Given the description of an element on the screen output the (x, y) to click on. 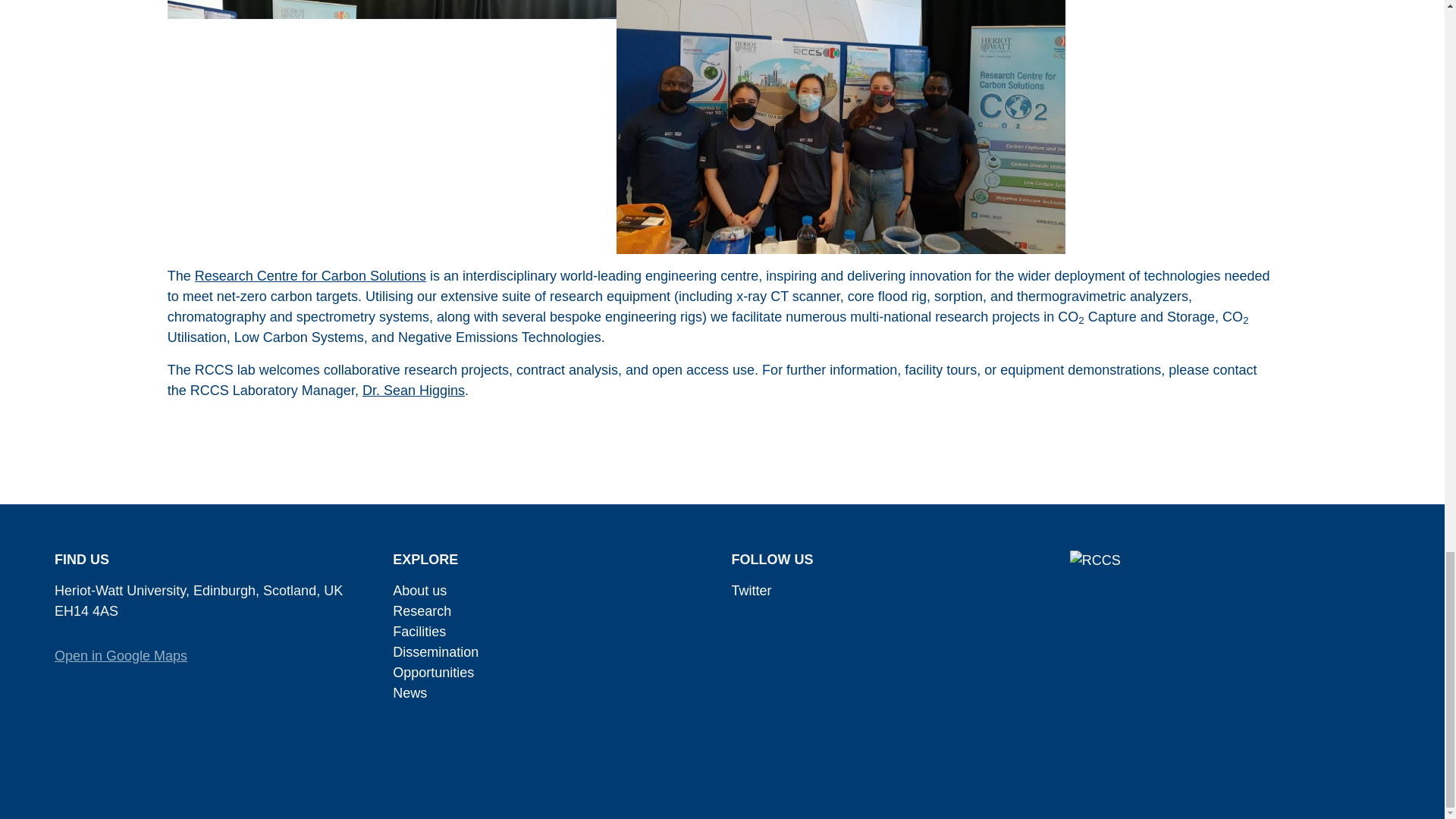
Dr. Sean Higgins (413, 390)
Research (422, 611)
About us (419, 590)
Twitter (750, 590)
Dissemination (436, 652)
Facilities (419, 631)
Research Centre for Carbon Solutions (310, 275)
Opportunities (433, 672)
Open in Google Maps (121, 655)
News (409, 693)
